Given the description of an element on the screen output the (x, y) to click on. 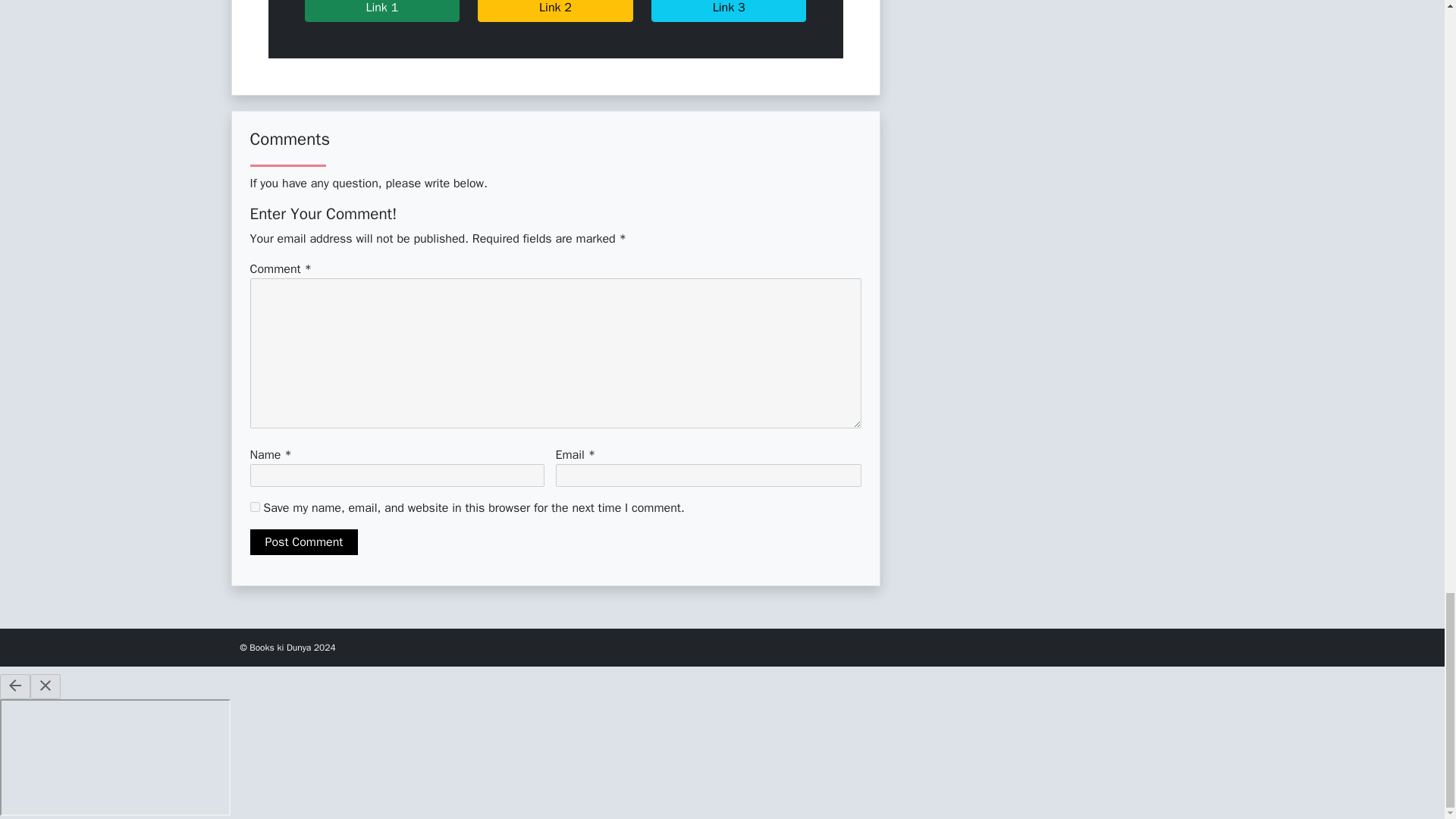
Link 1 (382, 11)
Link 3 (728, 11)
Post Comment (304, 542)
Post Comment (304, 542)
Link 2 (555, 11)
yes (255, 506)
